Given the description of an element on the screen output the (x, y) to click on. 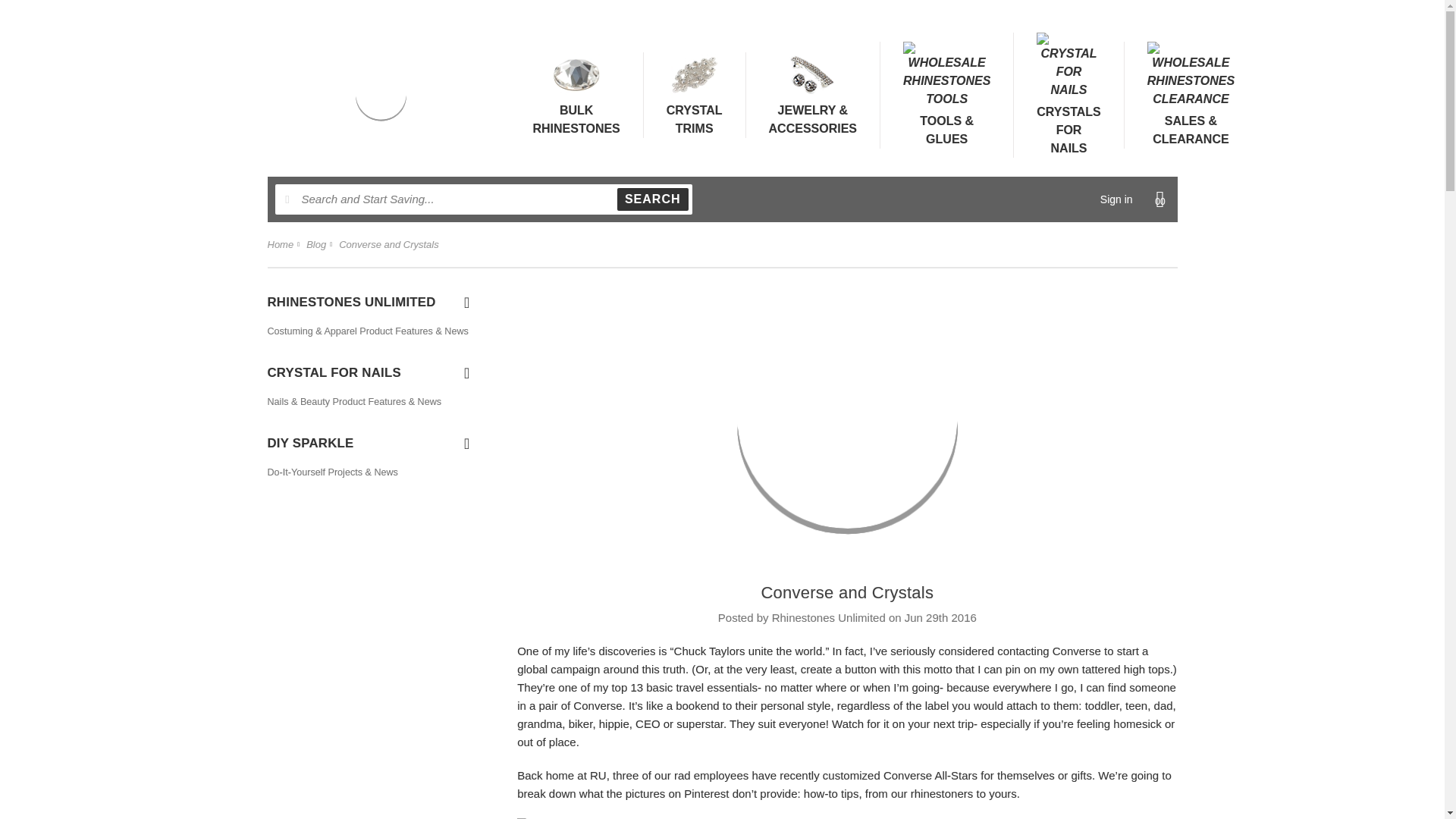
SEARCH (652, 199)
Sign in (1116, 198)
Rhinestones Unlimited  (380, 94)
Converse and Crystals (576, 94)
Home (847, 420)
Converse and Crystals (280, 243)
Converse and Crystals (389, 243)
Blog (846, 592)
